Given the description of an element on the screen output the (x, y) to click on. 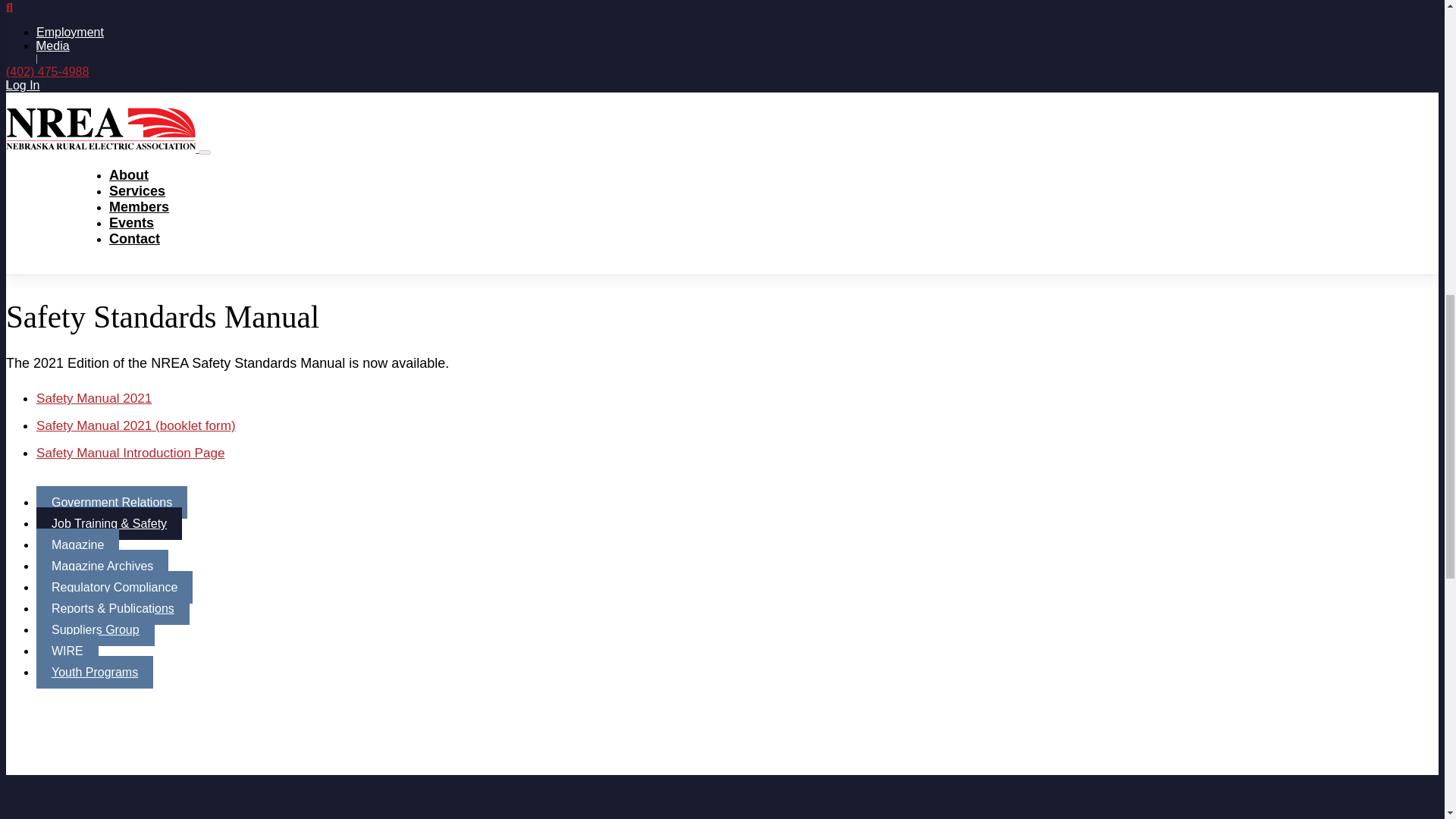
Safety Manual Introduction Page (130, 452)
Government Relations (111, 502)
Safety Manual 2021 (93, 397)
Magazine (77, 544)
Suppliers Group (95, 629)
www.safeelectricity.org (96, 251)
Youth Programs (94, 672)
Regulatory Compliance (114, 586)
WIRE (67, 650)
Magazine Archives (102, 565)
